Given the description of an element on the screen output the (x, y) to click on. 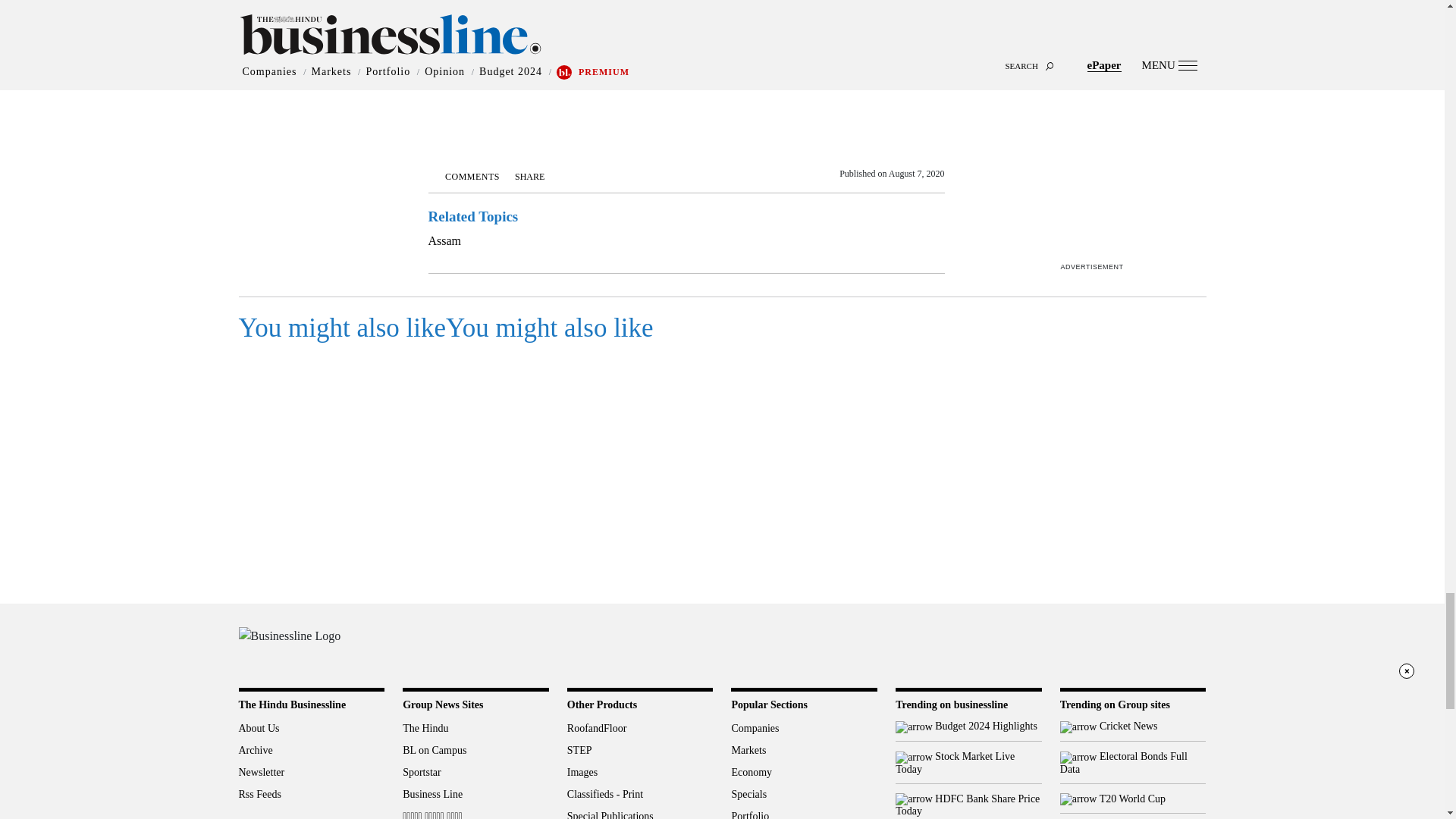
Google Play (1130, 644)
Apple Store (1180, 644)
